Given the description of an element on the screen output the (x, y) to click on. 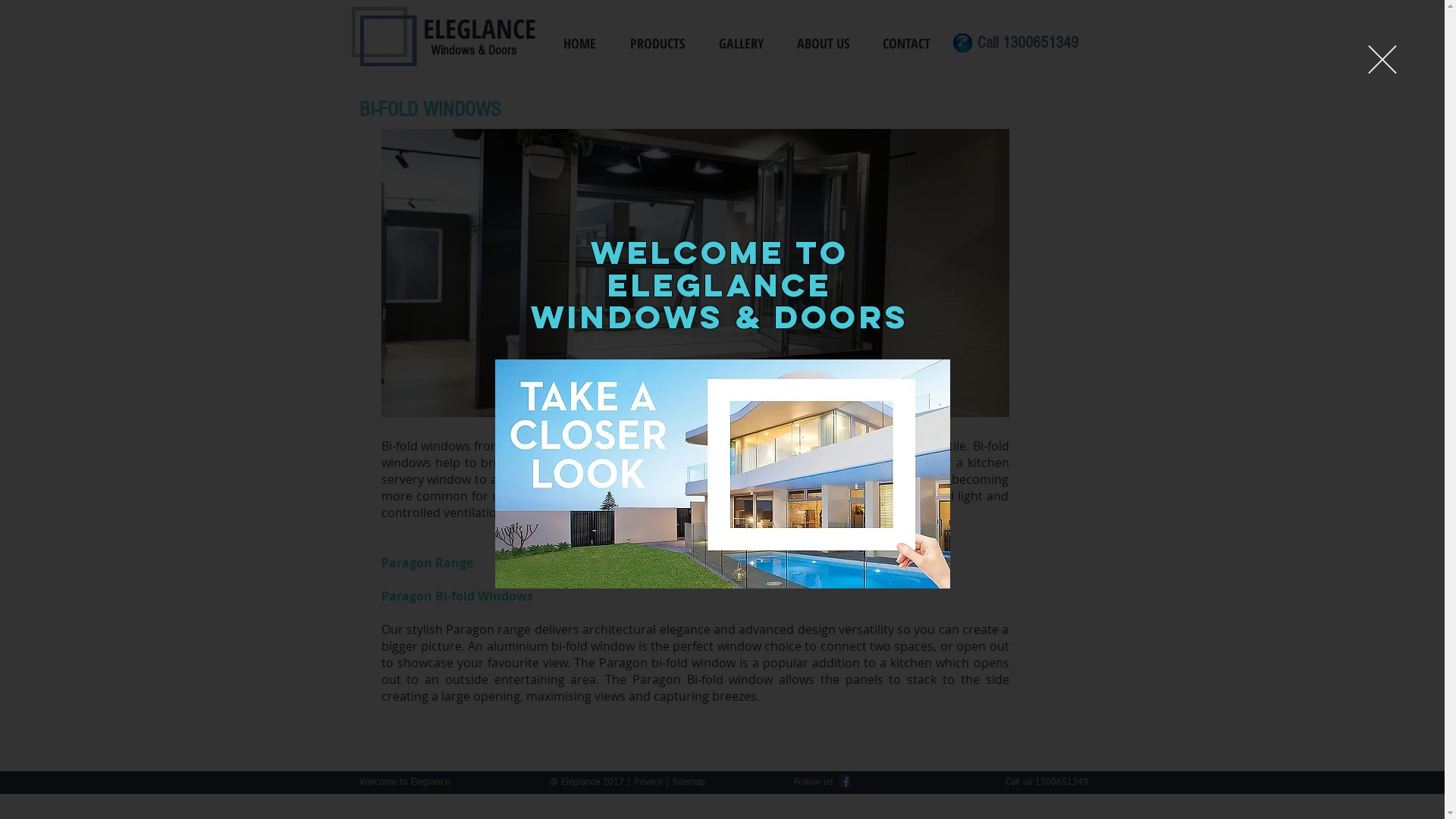
Bifold 3.JPG Element type: hover (694, 272)
Paragon Range Element type: text (426, 562)
ABOUT US Element type: text (828, 43)
HOME Element type: text (585, 43)
CONTACT Element type: text (910, 43)
Back to site Element type: hover (1382, 59)
